Given the description of an element on the screen output the (x, y) to click on. 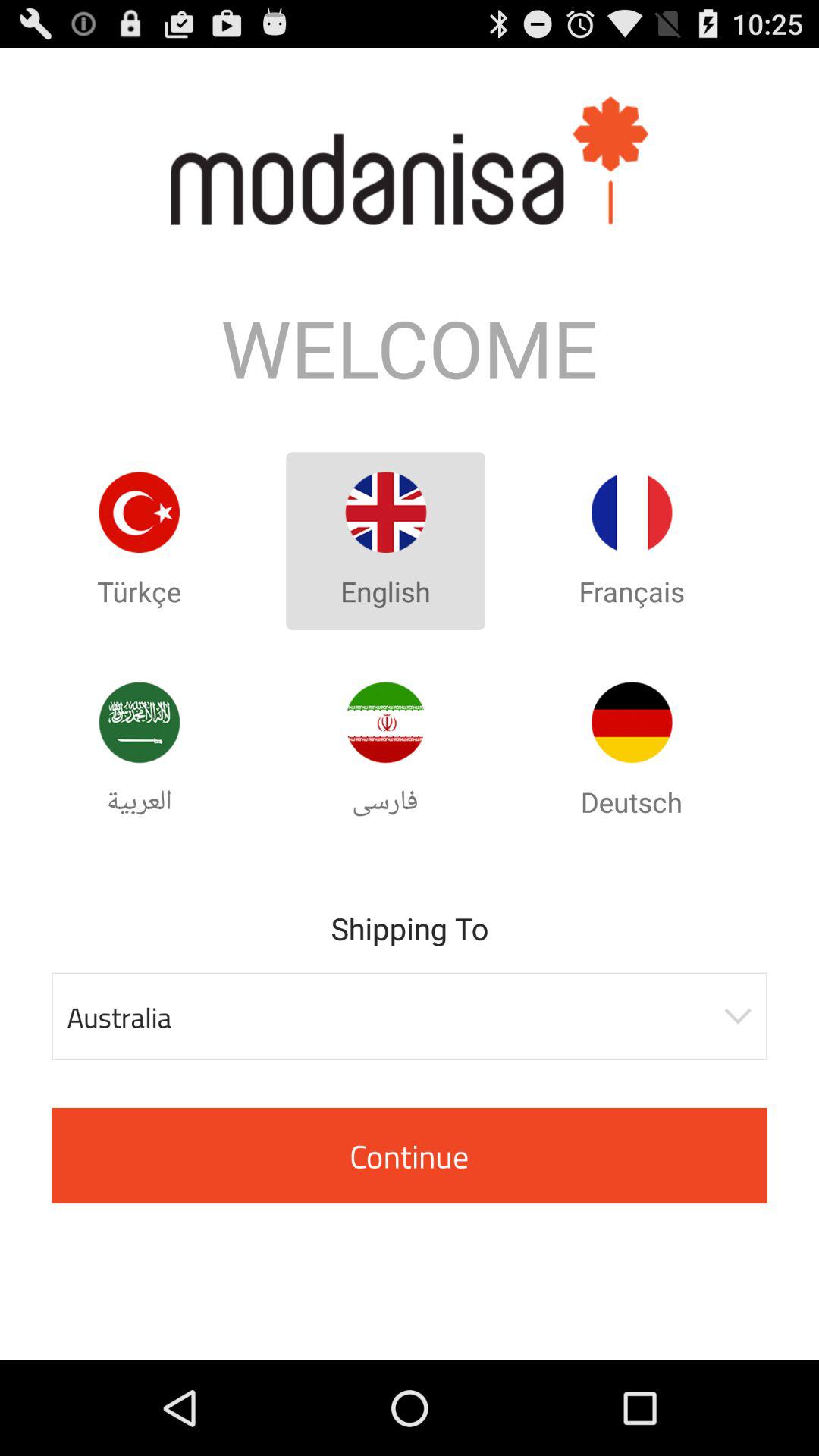
turkey language (138, 512)
